Given the description of an element on the screen output the (x, y) to click on. 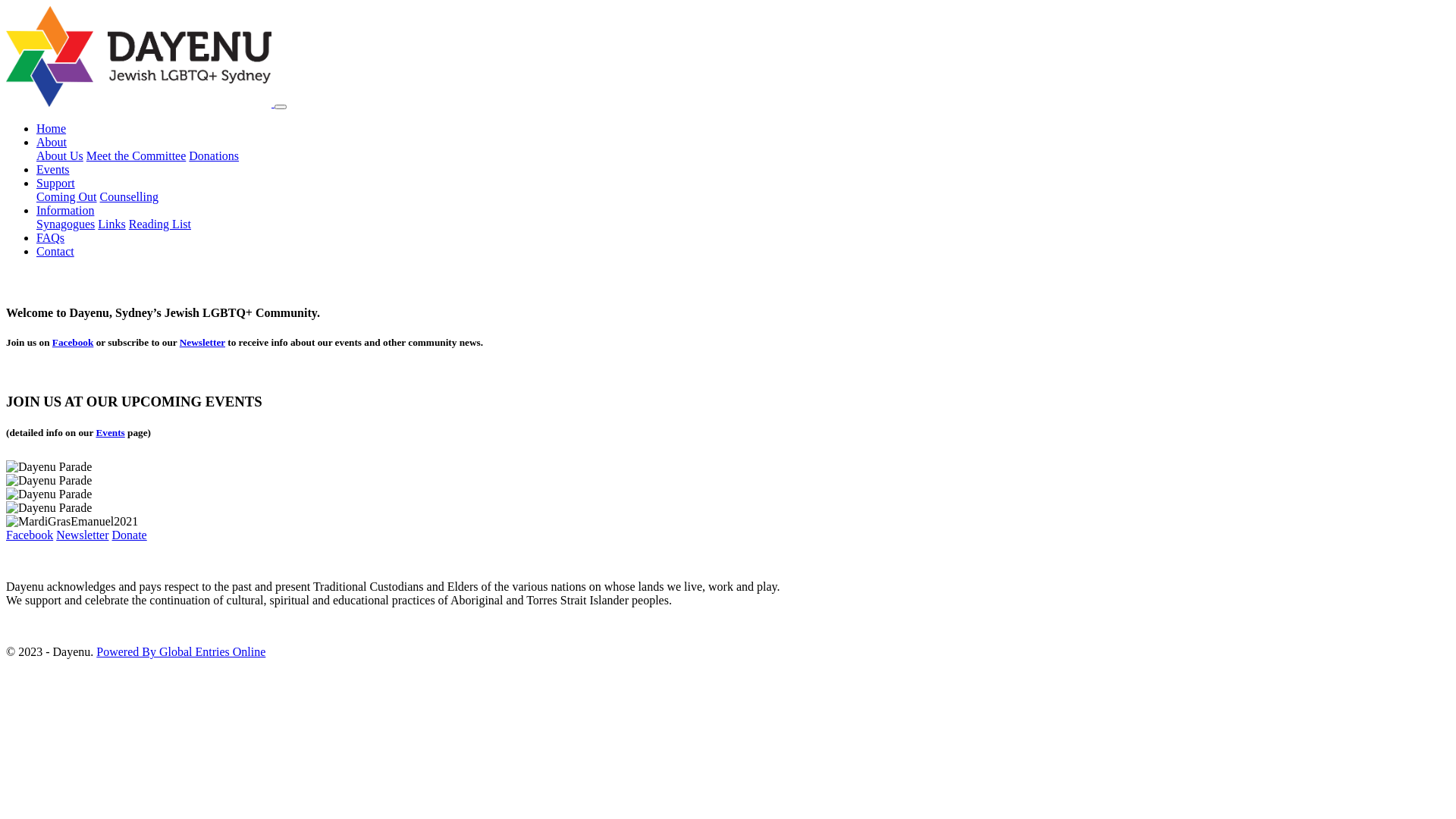
Donate Element type: text (129, 534)
Links Element type: text (111, 223)
Support Element type: text (55, 182)
Synagogues Element type: text (65, 223)
About Us Element type: text (59, 155)
Meet the Committee Element type: text (136, 155)
FAQs Element type: text (50, 237)
Reading List Element type: text (159, 223)
Home Element type: text (50, 128)
Newsletter Element type: text (202, 342)
Dayenu Element type: hover (140, 102)
Contact Element type: text (55, 250)
Facebook Element type: text (29, 534)
Facebook Element type: text (73, 342)
Information Element type: text (65, 209)
About Element type: text (51, 141)
Events Element type: text (109, 432)
Events Element type: text (52, 169)
Powered By Global Entries Online Element type: text (180, 651)
Counselling Element type: text (129, 196)
Donations Element type: text (213, 155)
Newsletter Element type: text (82, 534)
Coming Out Element type: text (66, 196)
